Given the description of an element on the screen output the (x, y) to click on. 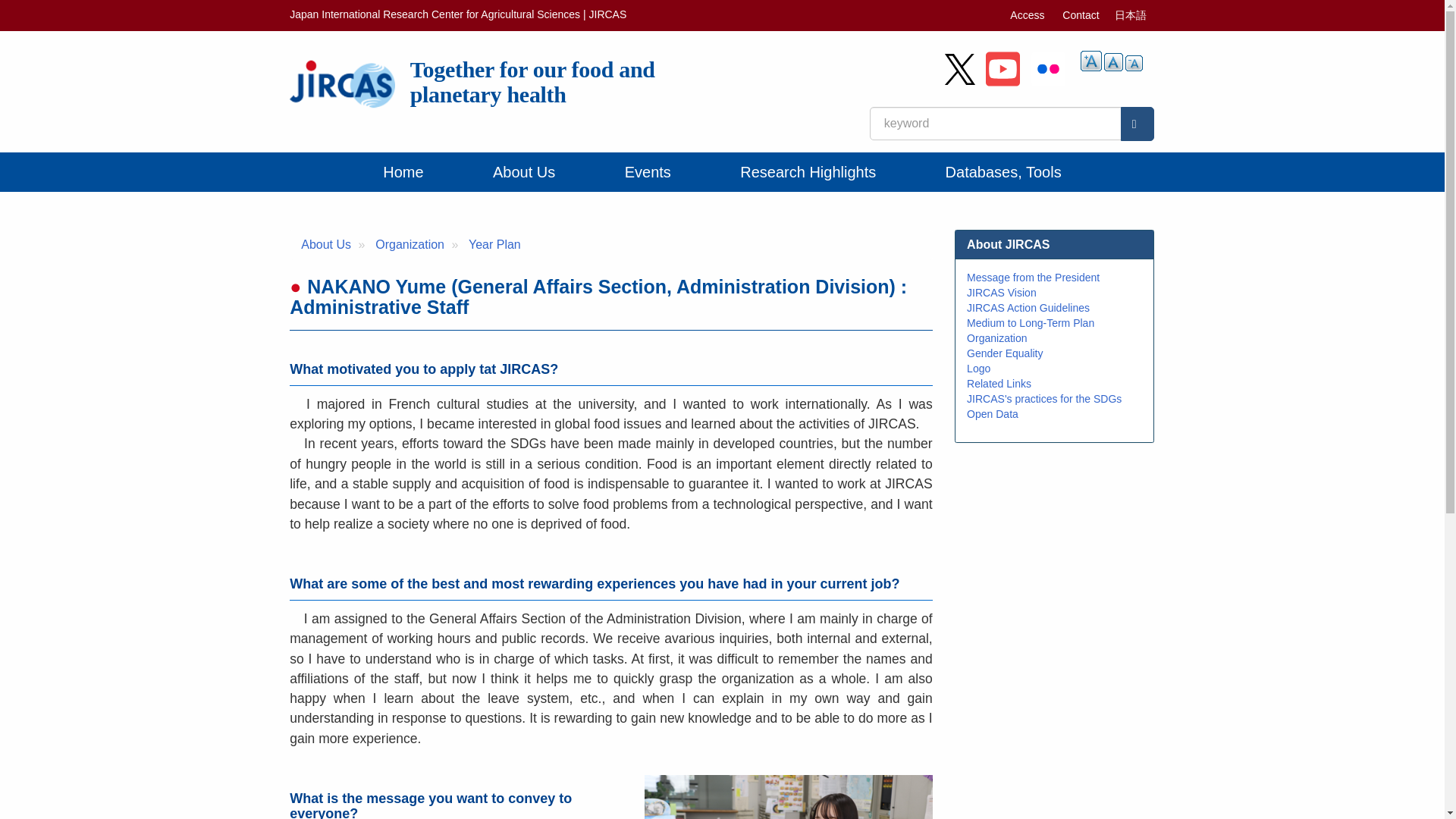
Year Plan (494, 244)
Home (536, 81)
Organization (996, 337)
A (1133, 63)
A (1112, 62)
Events (647, 171)
A (1091, 60)
JIRCAS's practices for the SDGs (1043, 398)
Search (1137, 123)
Organization (409, 244)
Home (403, 171)
Databases, Tools (1003, 171)
Contact (1080, 15)
Research Highlights (808, 171)
